Given the description of an element on the screen output the (x, y) to click on. 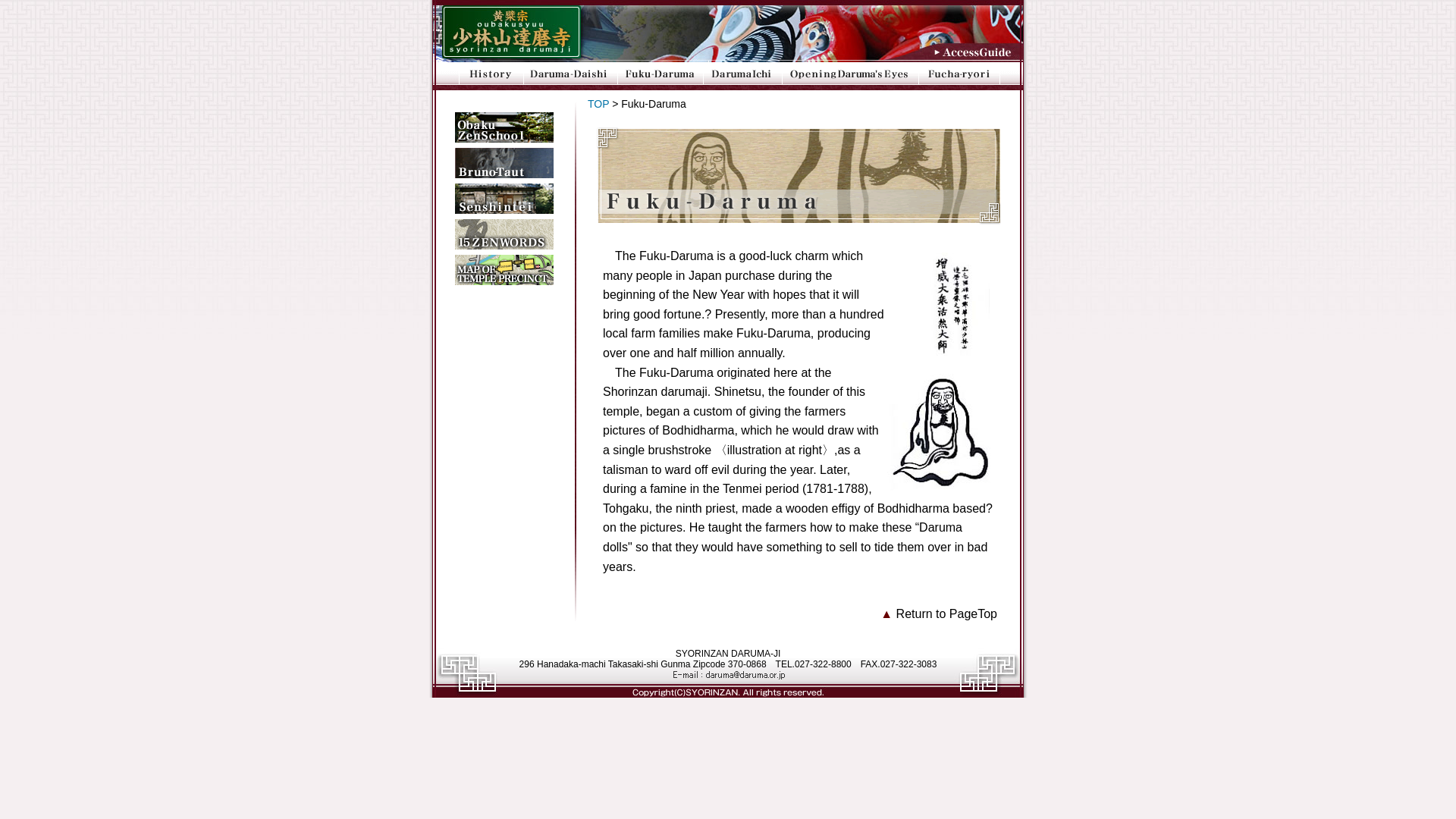
Bruno-Taut (503, 163)
Senshintei (503, 198)
15 ZEN WORDS (503, 234)
MAP OF TEMPLE PRECINCT (503, 269)
TOP (598, 103)
Obaku Zen School (503, 127)
Return to PageTop (946, 613)
